Given the description of an element on the screen output the (x, y) to click on. 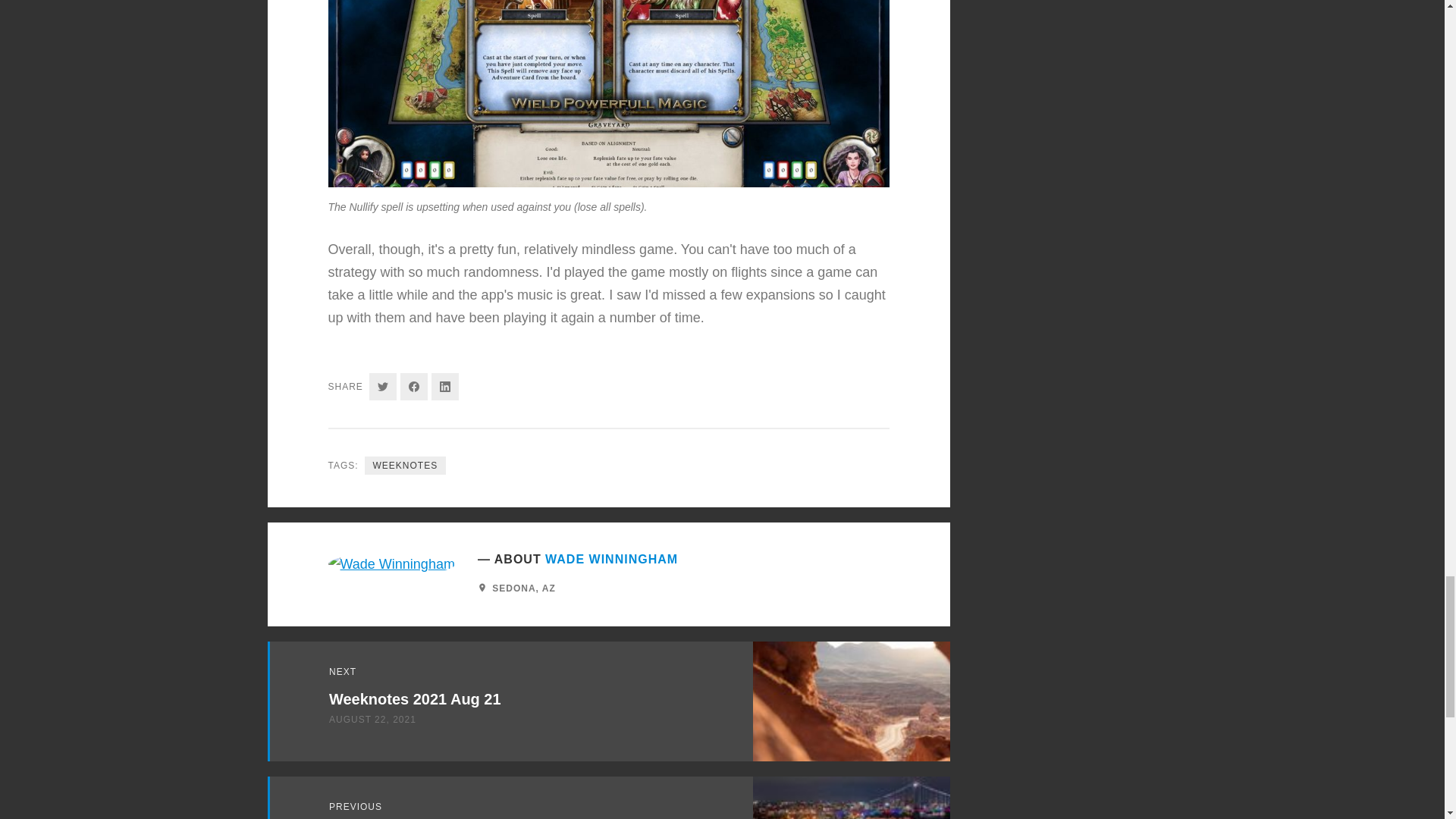
Weeknotes 2021 Aug 21 (414, 695)
WADE WINNINGHAM (611, 554)
SHARE ON TWITTER (382, 378)
SHARE ON FACEBOOK (414, 379)
WEEKNOTES (405, 459)
SHARE ON LINKEDIN (444, 379)
